Given the description of an element on the screen output the (x, y) to click on. 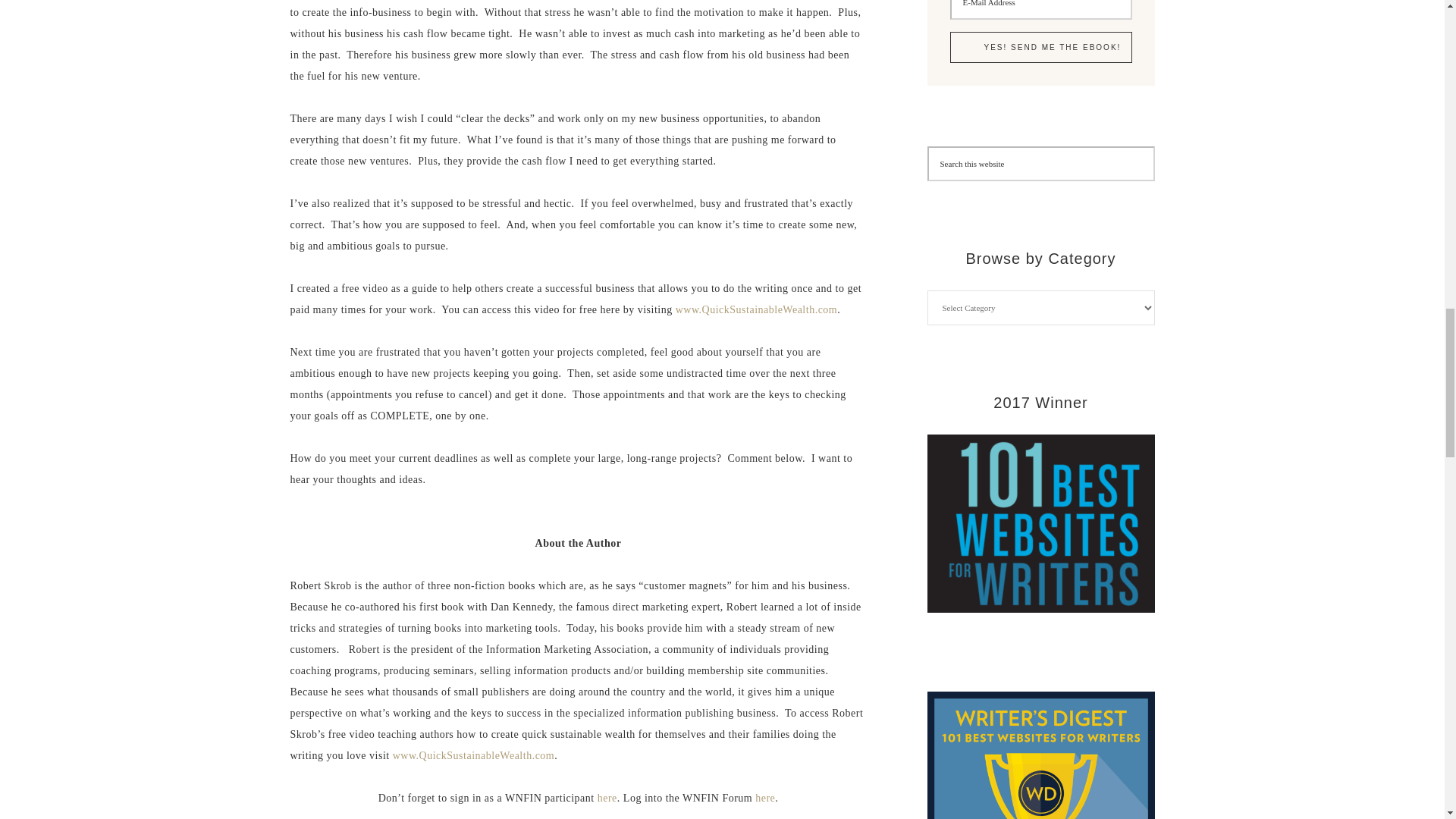
www.QuickSustainableWealth.com (473, 755)
here (764, 797)
www.QuickSustainableWealth.com (756, 309)
here (606, 797)
Yes! Send me the eBook! (1040, 47)
